Given the description of an element on the screen output the (x, y) to click on. 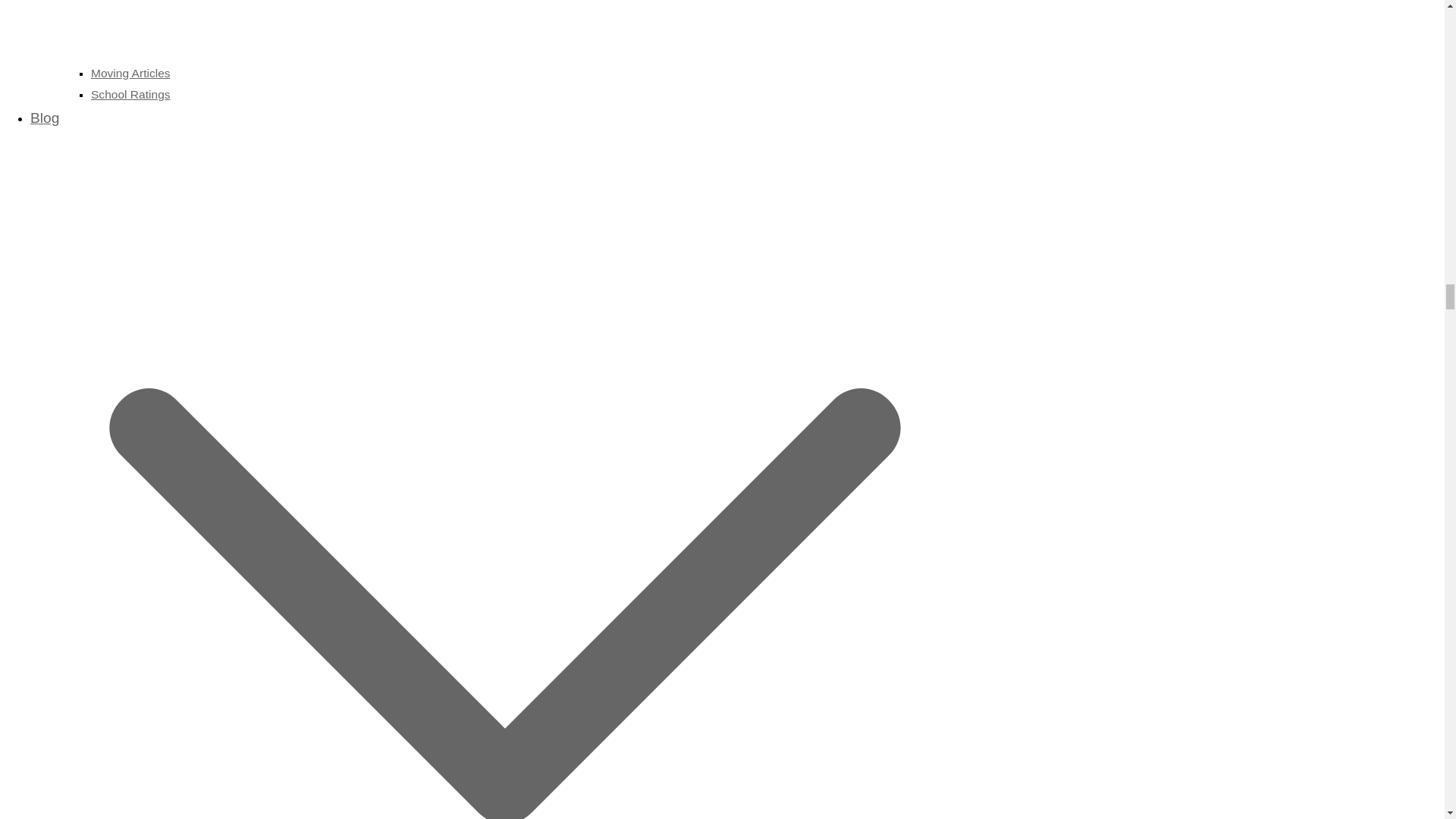
School Ratings (130, 93)
Guides (520, 29)
Moving Articles (130, 72)
